Given the description of an element on the screen output the (x, y) to click on. 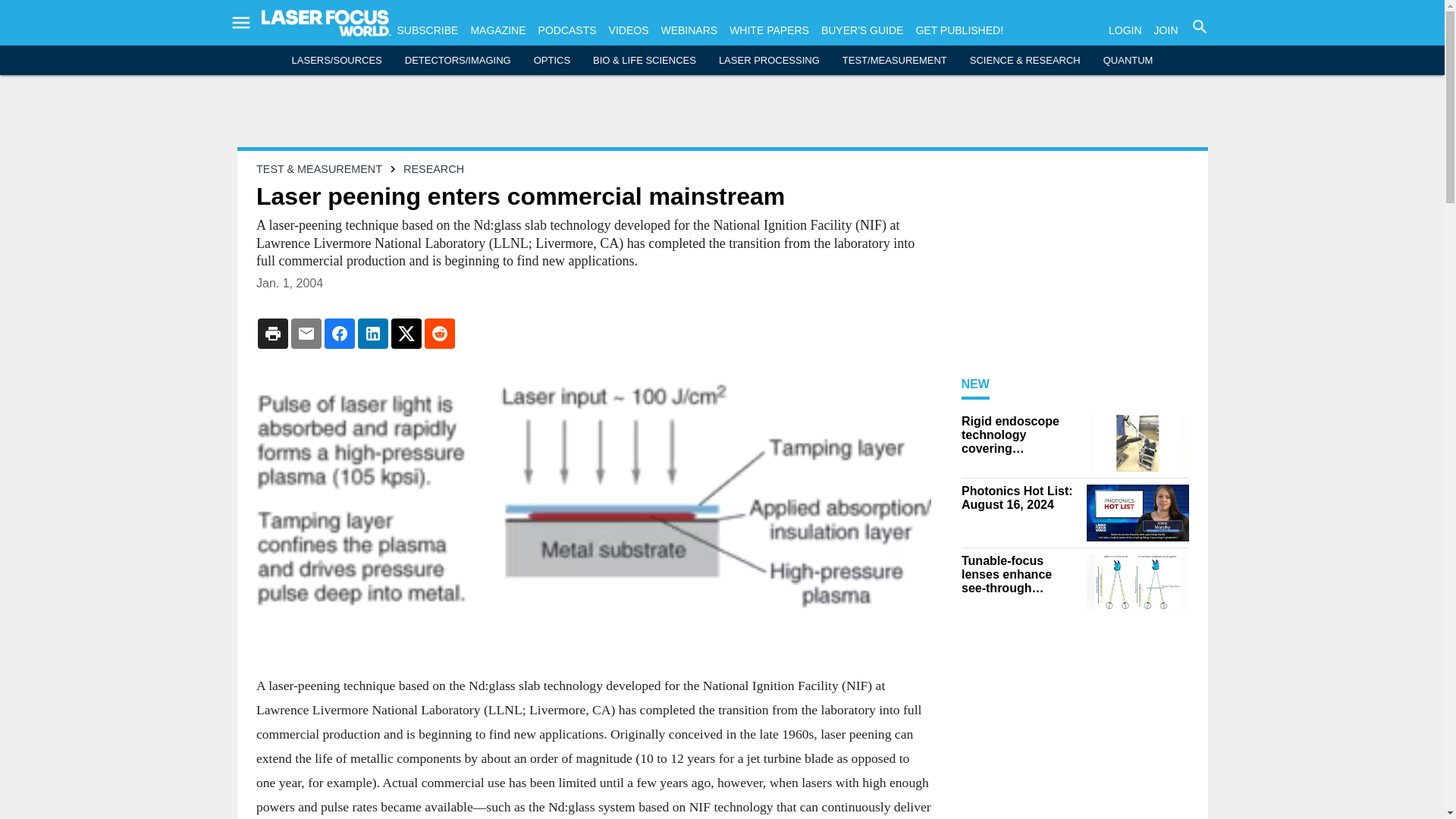
PODCASTS (567, 30)
SUBSCRIBE (427, 30)
GET PUBLISHED! (959, 30)
WEBINARS (689, 30)
LOGIN (1124, 30)
WHITE PAPERS (769, 30)
BUYER'S GUIDE (861, 30)
MAGAZINE (497, 30)
VIDEOS (628, 30)
